Given the description of an element on the screen output the (x, y) to click on. 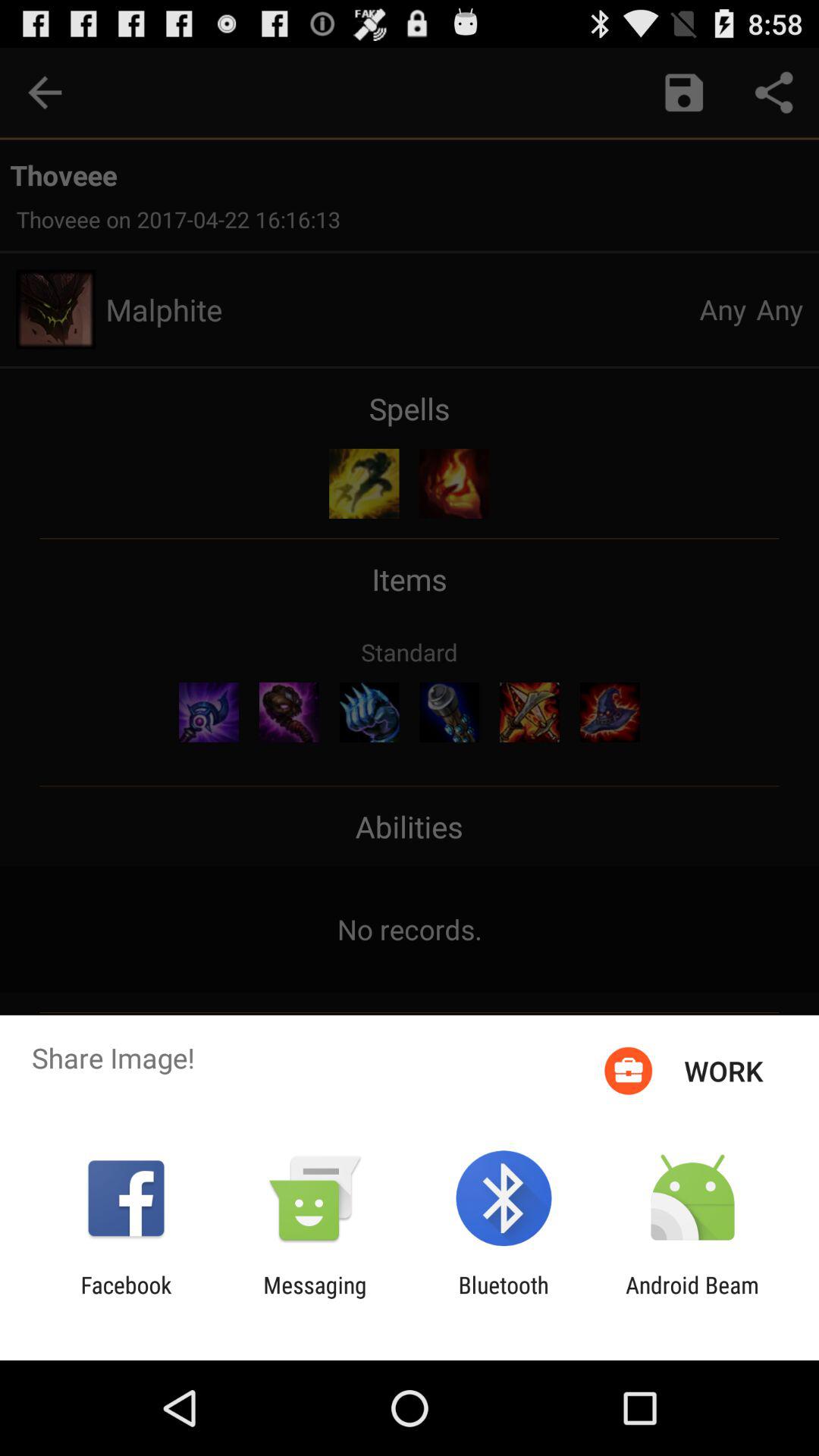
open android beam (692, 1298)
